Given the description of an element on the screen output the (x, y) to click on. 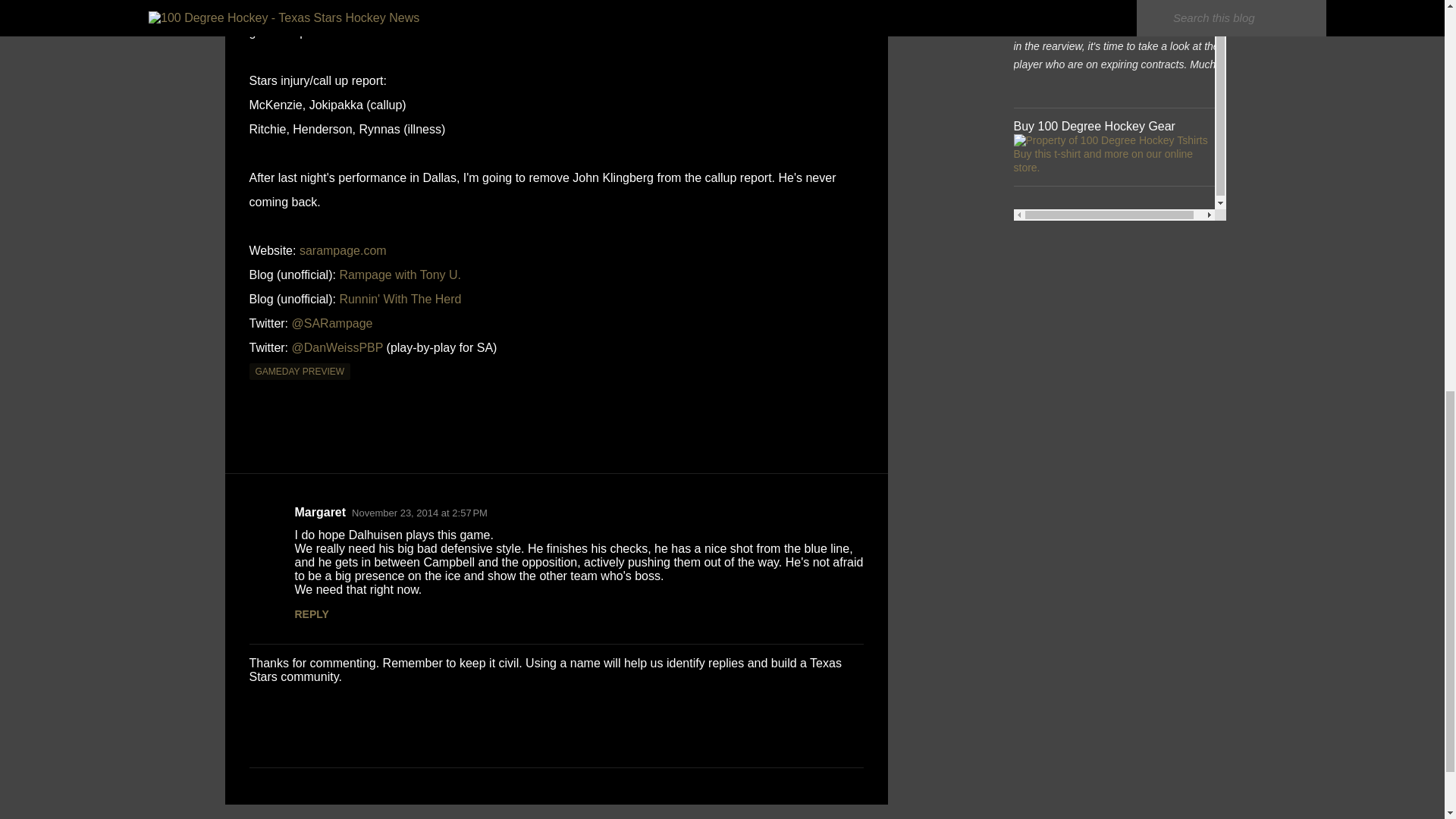
Rampage with Tony U. (400, 274)
Runnin' With The Herd (400, 298)
Margaret (320, 512)
Buy this t-shirt and more on our online store. (1102, 160)
REPLY (311, 613)
sarampage.com (343, 250)
GAMEDAY PREVIEW (299, 371)
